Given the description of an element on the screen output the (x, y) to click on. 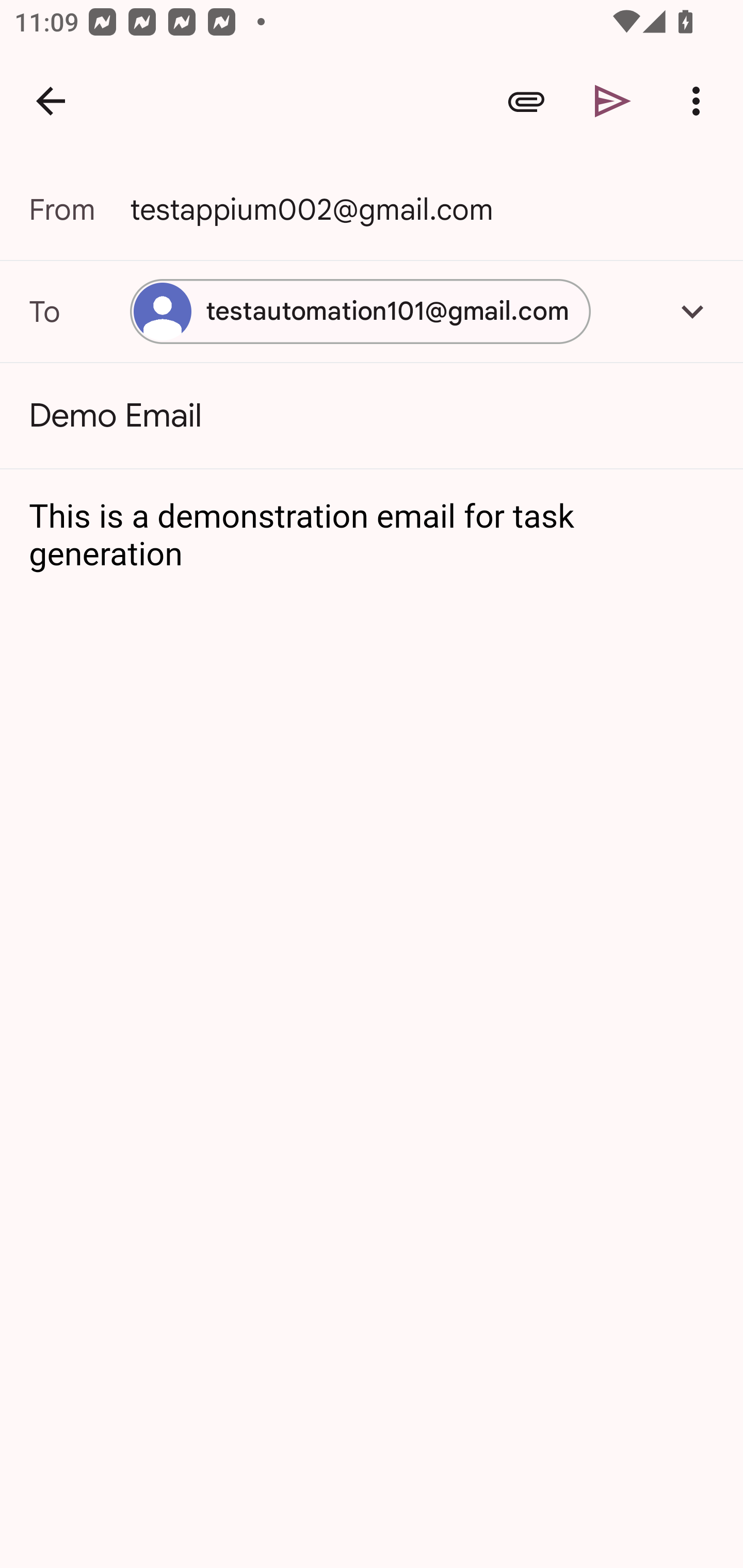
Navigate up (50, 101)
Attach file (525, 101)
Send (612, 101)
More options (699, 101)
From (79, 209)
Add Cc/Bcc (692, 311)
Demo Email (371, 415)
This is a demonstration email for task generation (372, 535)
